Given the description of an element on the screen output the (x, y) to click on. 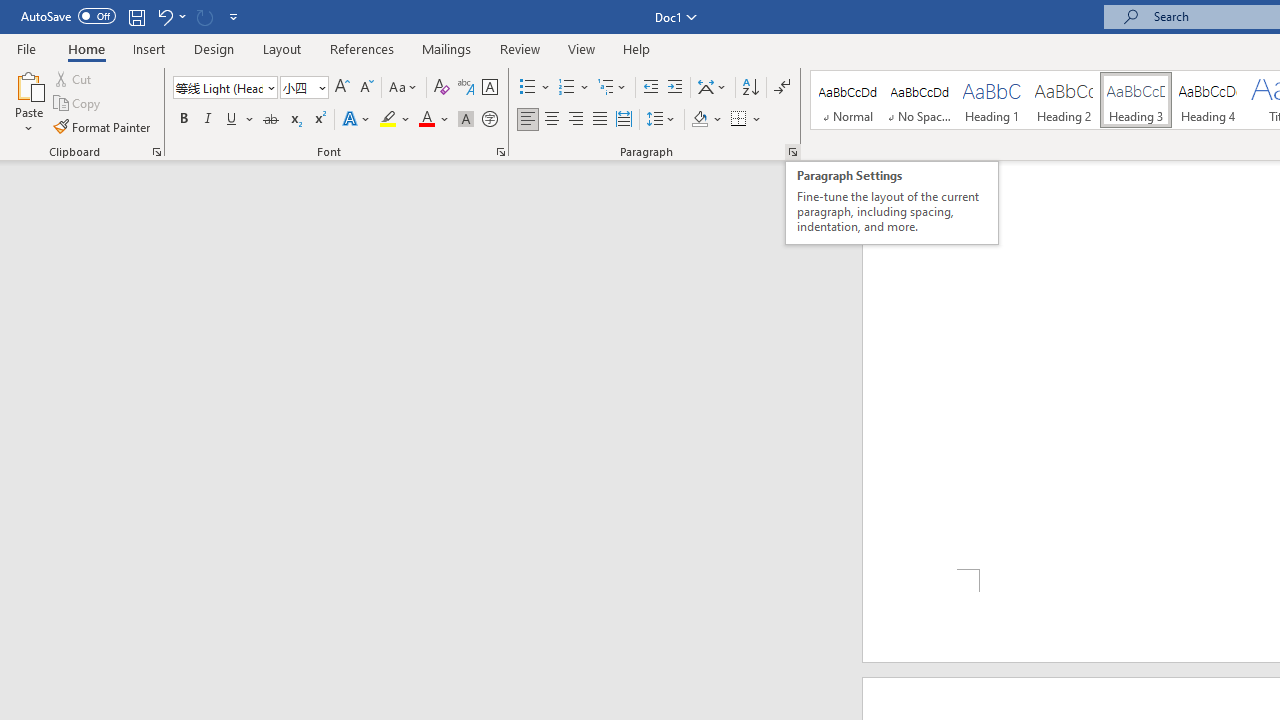
Character Shading (465, 119)
Grow Font (342, 87)
